Given the description of an element on the screen output the (x, y) to click on. 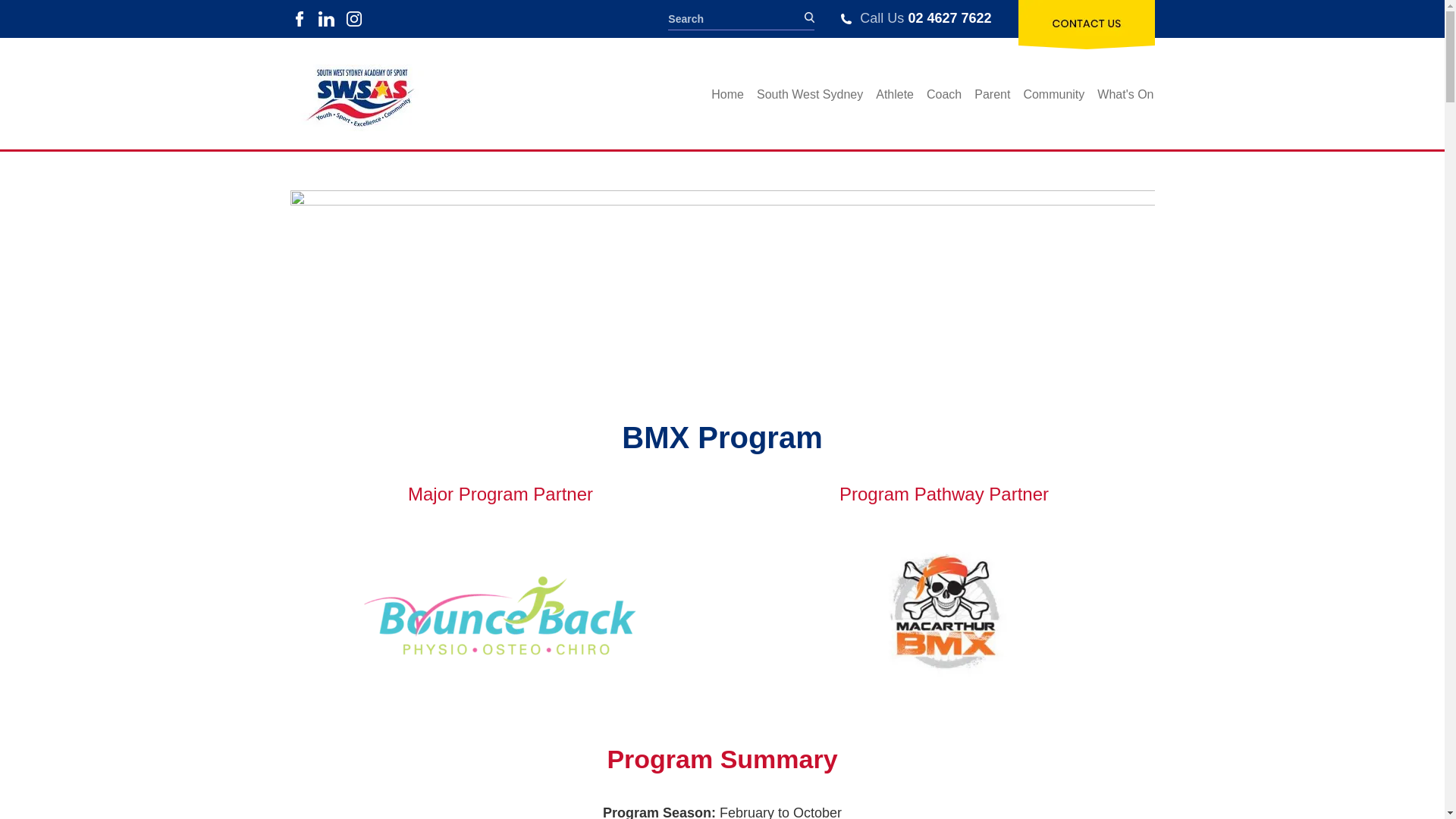
Search (736, 18)
South West Sydney (809, 94)
Call Us 02 4627 7622 (916, 18)
Go (809, 12)
Search (736, 18)
